Given the description of an element on the screen output the (x, y) to click on. 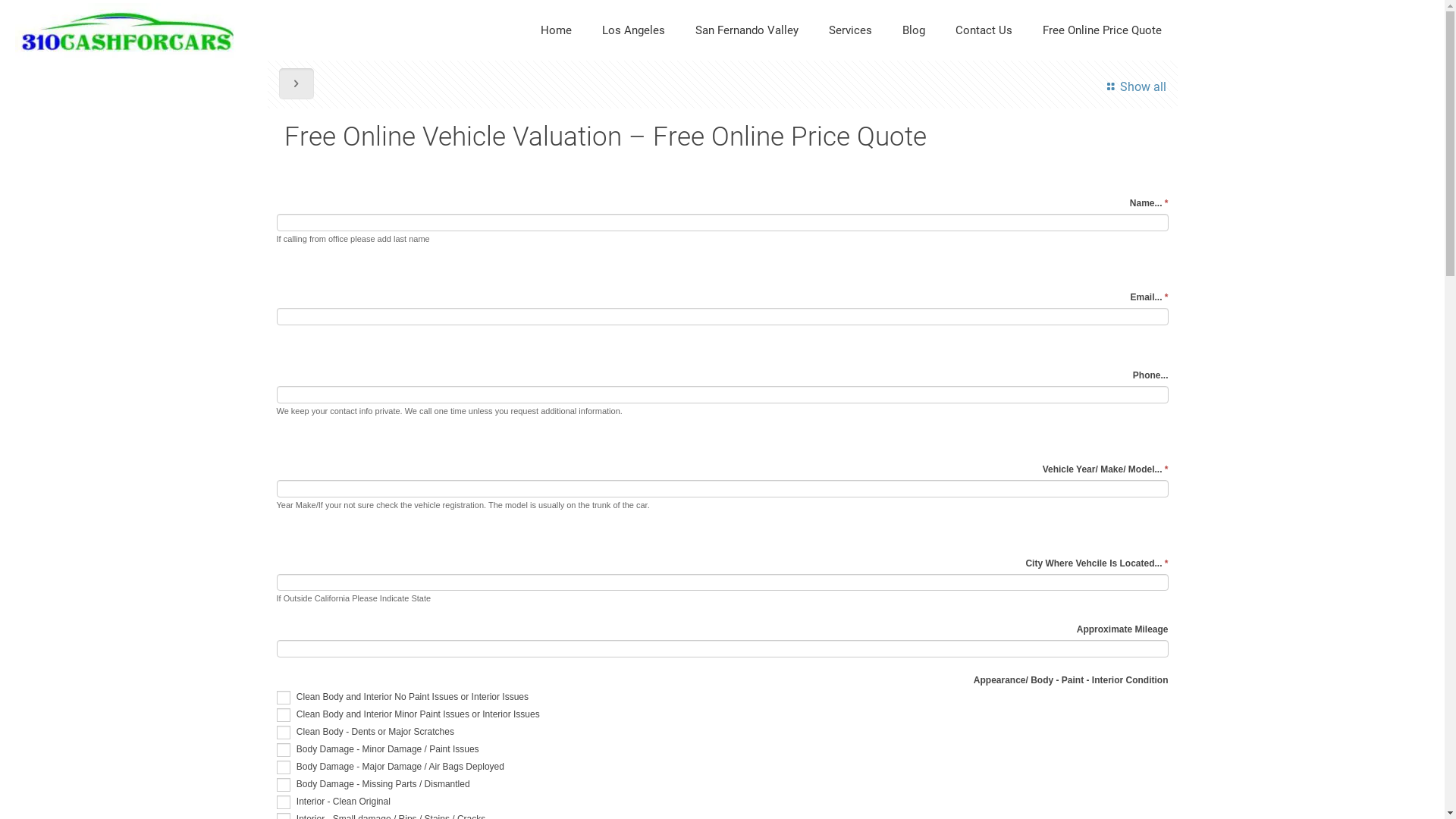
Free Online Price Quote Element type: text (1101, 30)
San Fernando Valley Element type: text (746, 30)
Home Element type: text (555, 30)
Contact Us Element type: text (983, 30)
Los Angeles Element type: text (633, 30)
Show all Element type: text (1133, 86)
Services Element type: text (850, 30)
Blog Element type: text (913, 30)
